Given the description of an element on the screen output the (x, y) to click on. 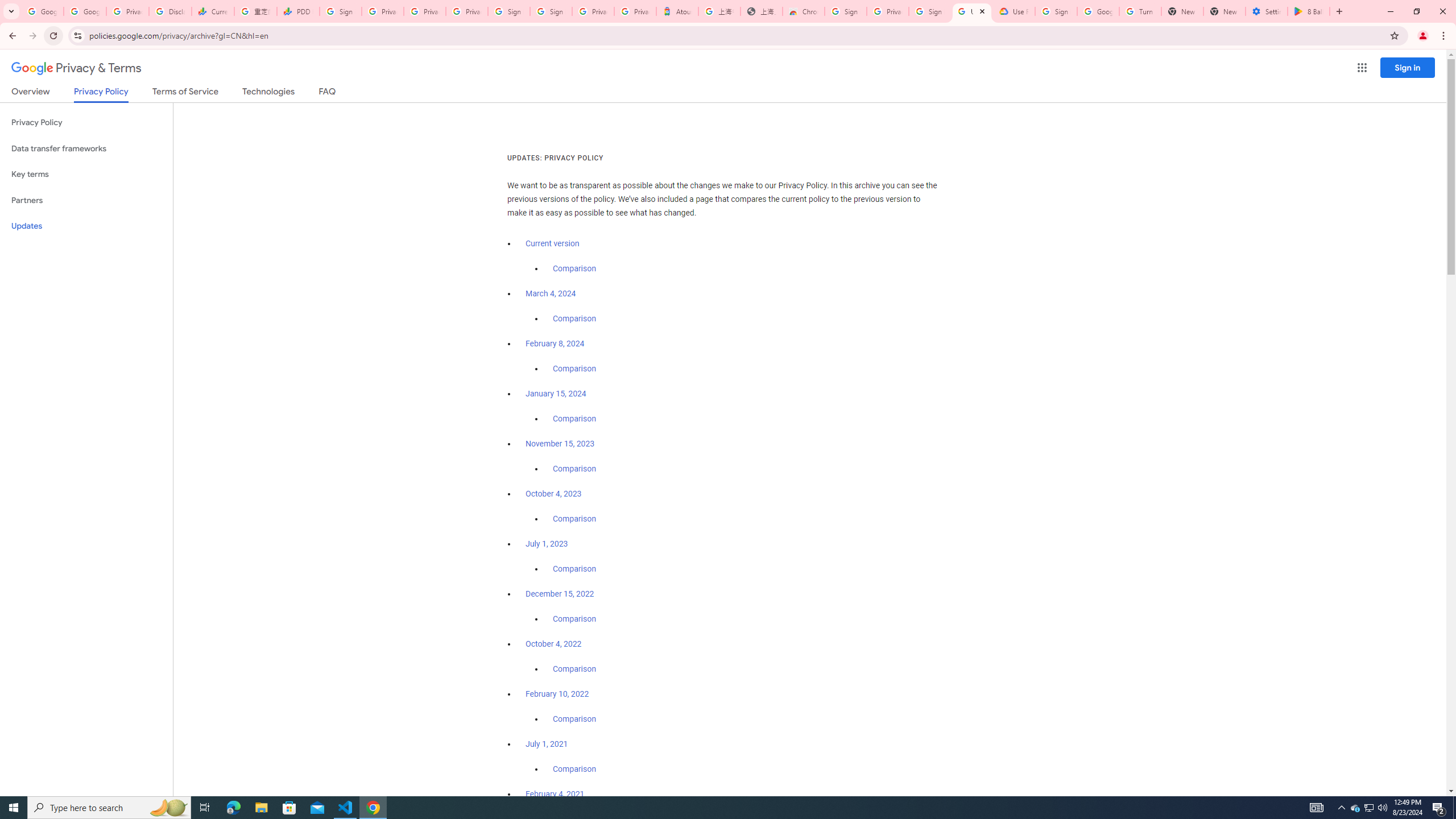
Sign in - Google Accounts (1055, 11)
Sign in - Google Accounts (930, 11)
January 15, 2024 (555, 394)
July 1, 2021 (546, 743)
Settings - System (1266, 11)
October 4, 2023 (553, 493)
